Given the description of an element on the screen output the (x, y) to click on. 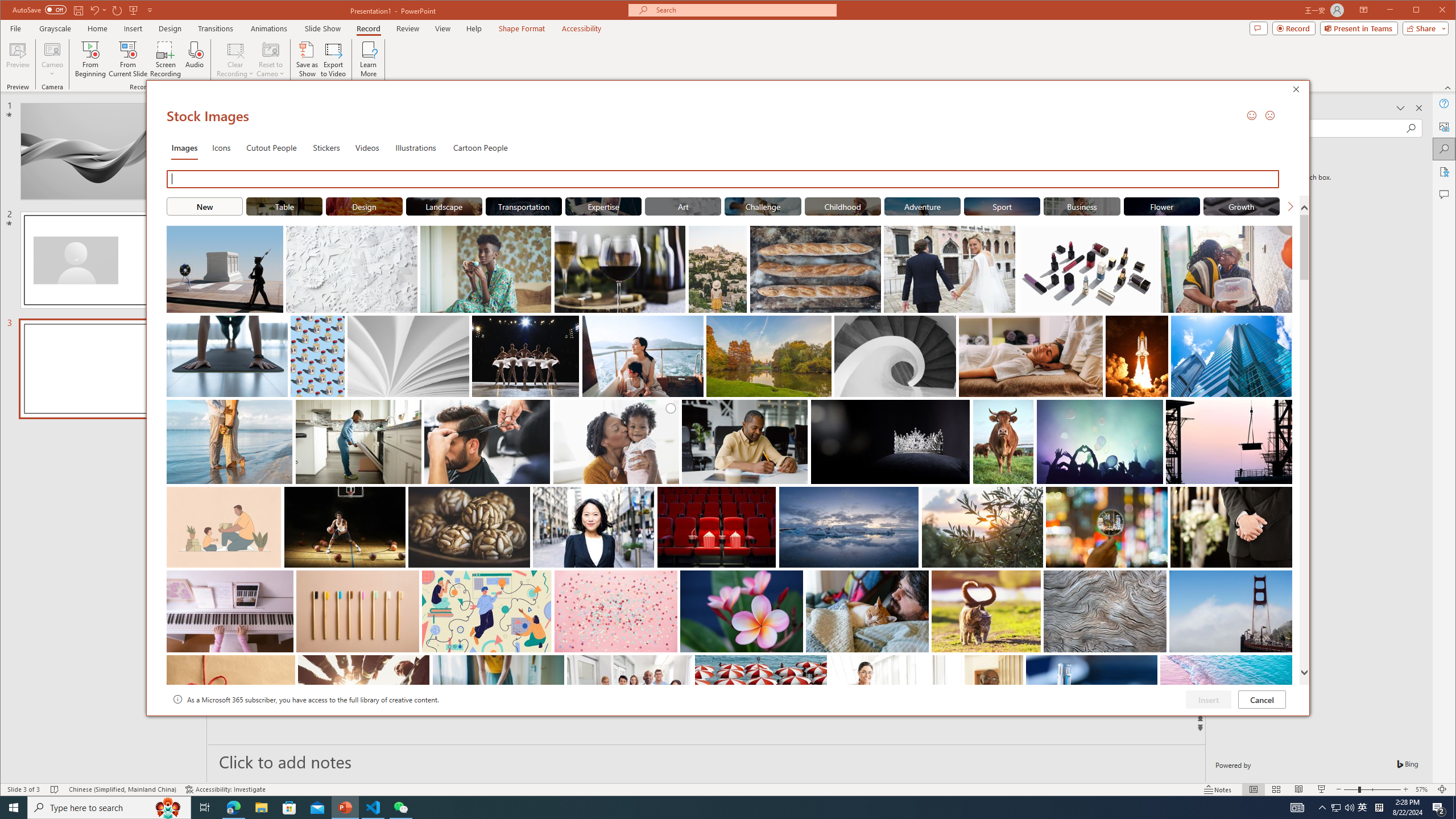
Next Search Suggestion (1290, 206)
Cutout People (271, 147)
"Sport" Stock Images. (1001, 206)
Learn More (368, 59)
